Given the description of an element on the screen output the (x, y) to click on. 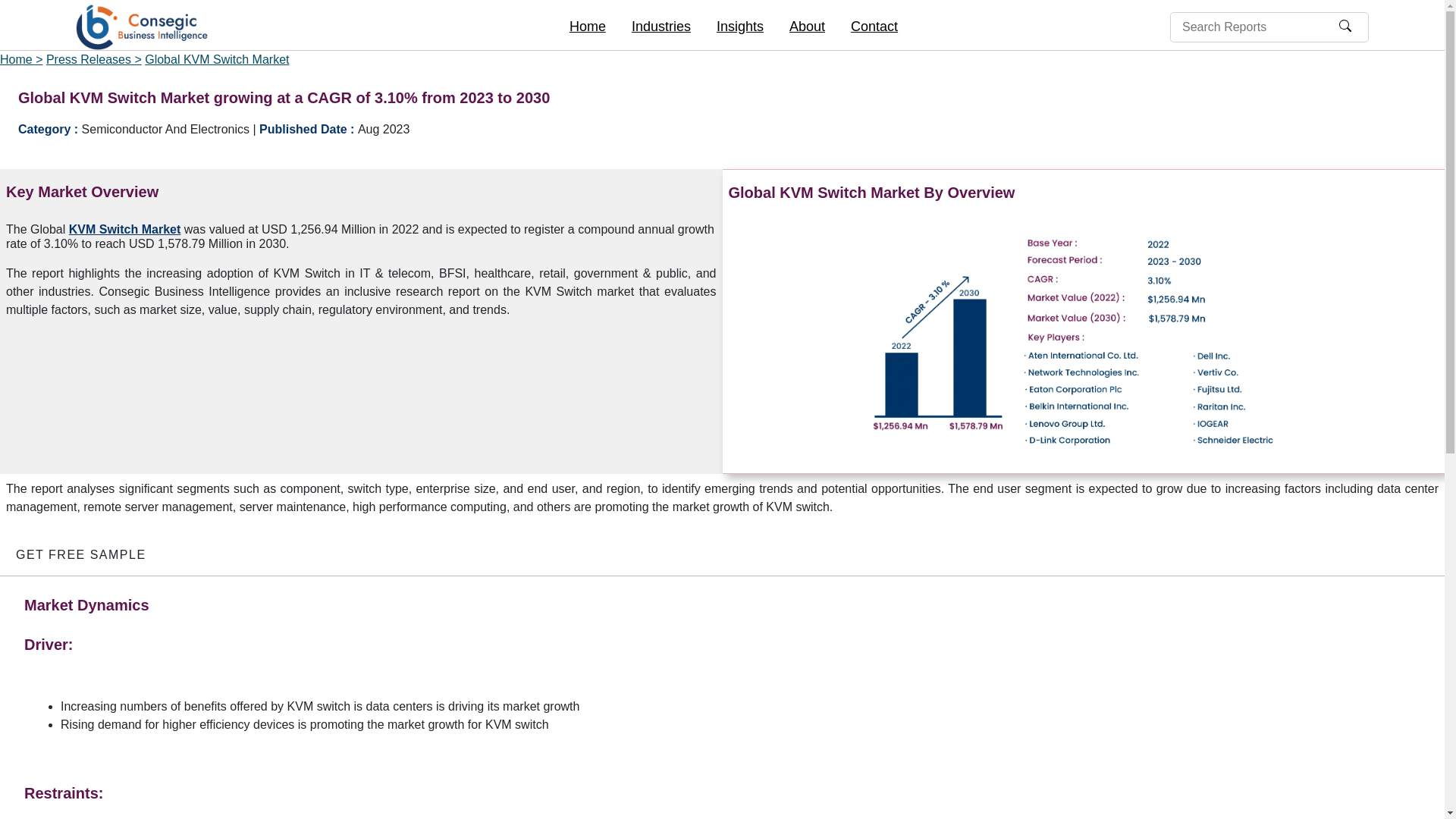
GET FREE SAMPLE (80, 554)
Industries (660, 26)
Global KVM Switch Market (216, 59)
KVM Switch Market (124, 228)
About (807, 26)
Home (587, 26)
Contact (874, 26)
Insights (739, 26)
